Given the description of an element on the screen output the (x, y) to click on. 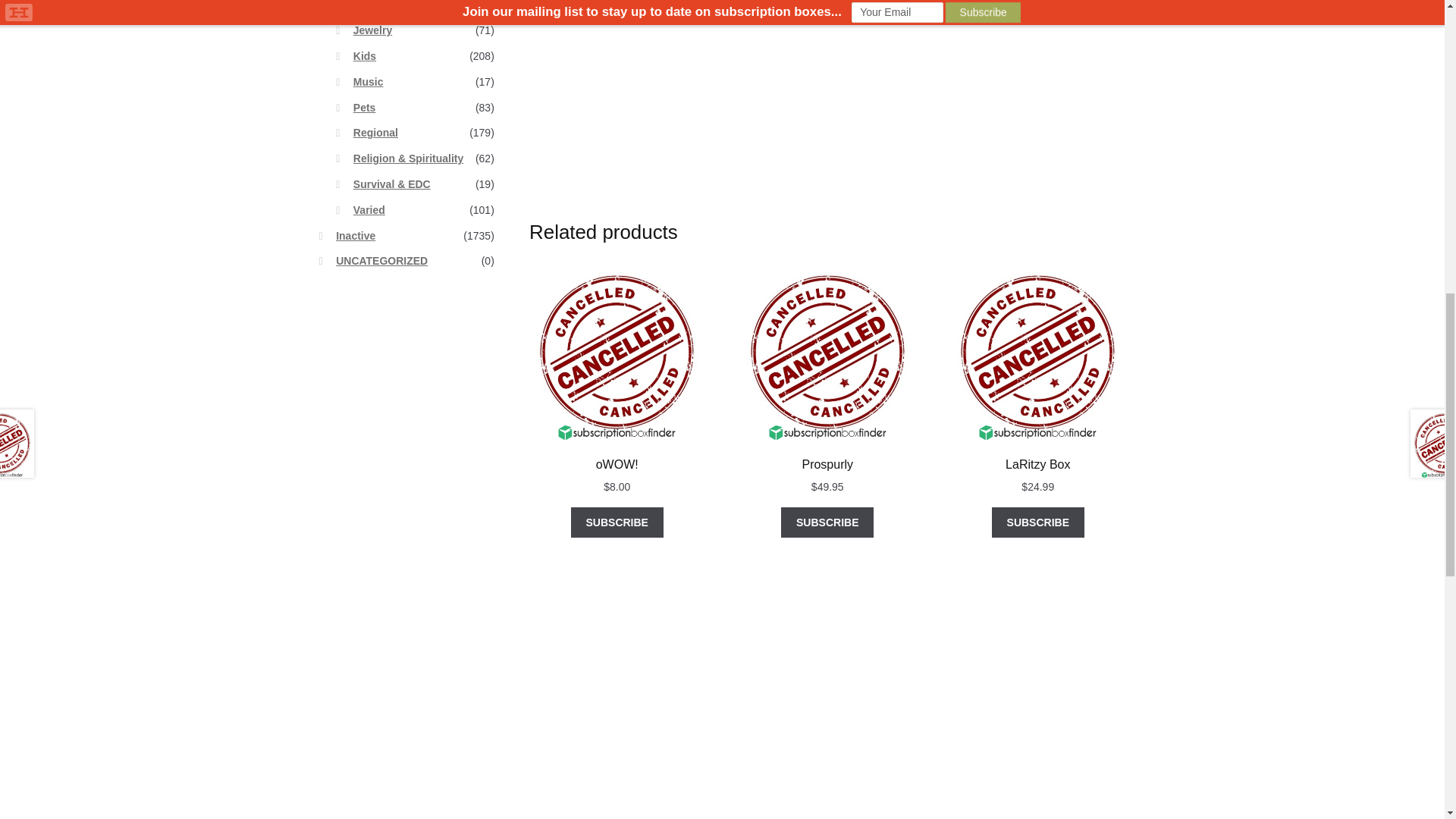
SUBSCRIBE (616, 521)
Advertisement (932, 143)
SUBSCRIBE (826, 521)
SUBSCRIBE (1037, 521)
